Given the description of an element on the screen output the (x, y) to click on. 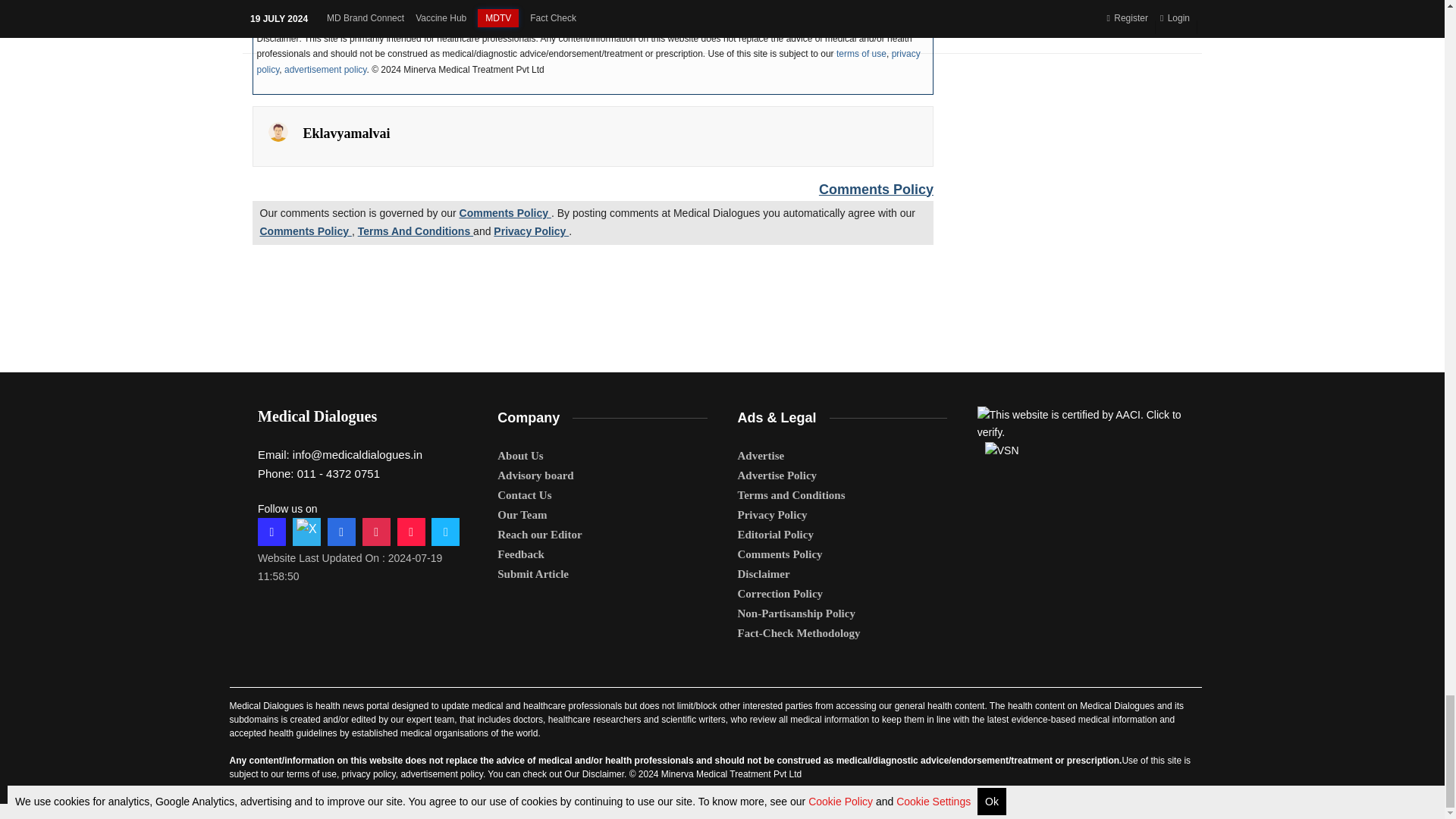
eklavyamalvai (277, 131)
